Given the description of an element on the screen output the (x, y) to click on. 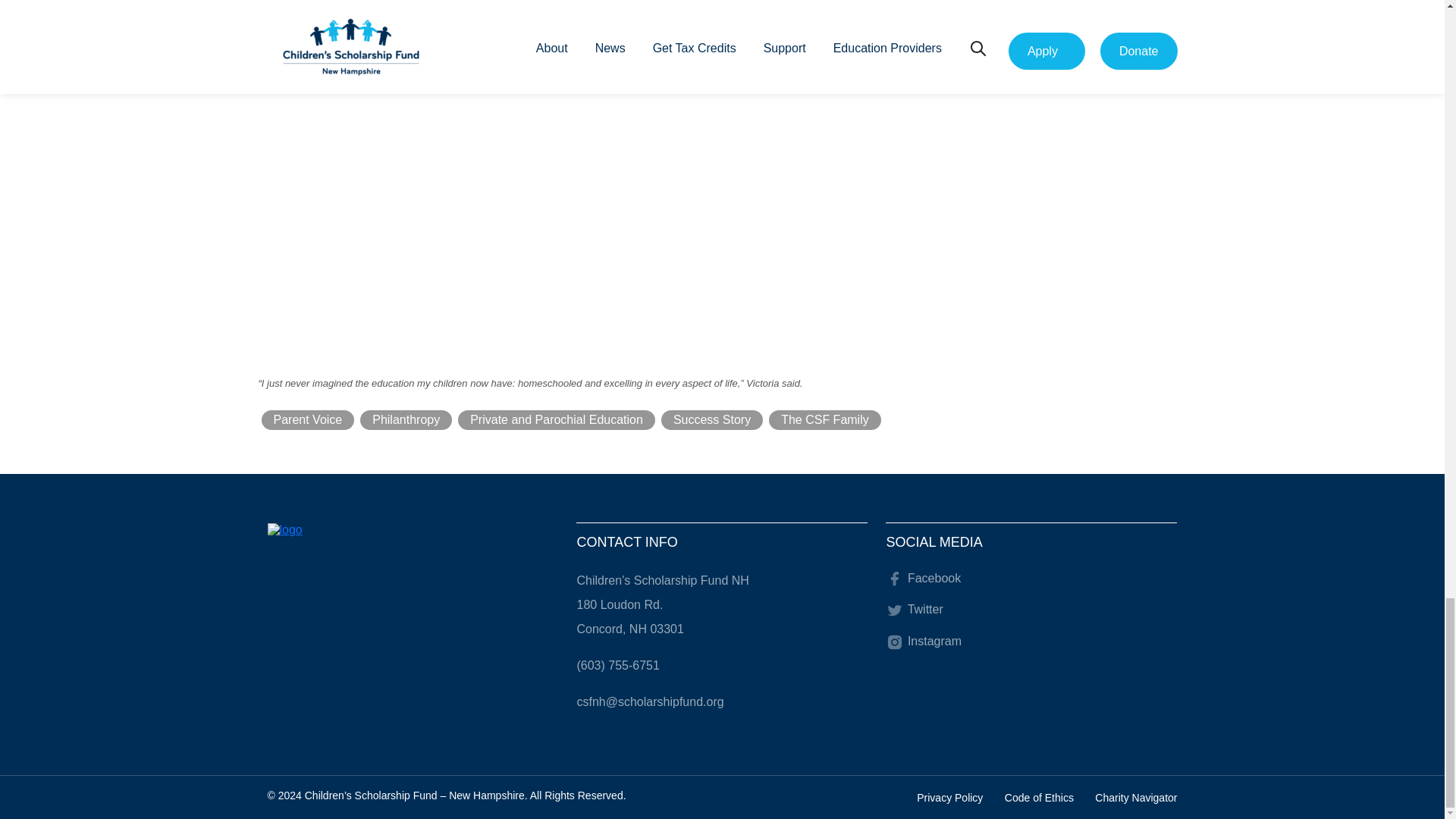
Success Story (711, 419)
Private and Parochial Education (556, 419)
Code of Ethics (1039, 797)
Parent Voice (306, 419)
Privacy Policy (949, 797)
Charity Navigator (1135, 797)
Philanthropy (405, 419)
Twitter (913, 608)
Instagram (922, 640)
The CSF Family (824, 419)
